Given the description of an element on the screen output the (x, y) to click on. 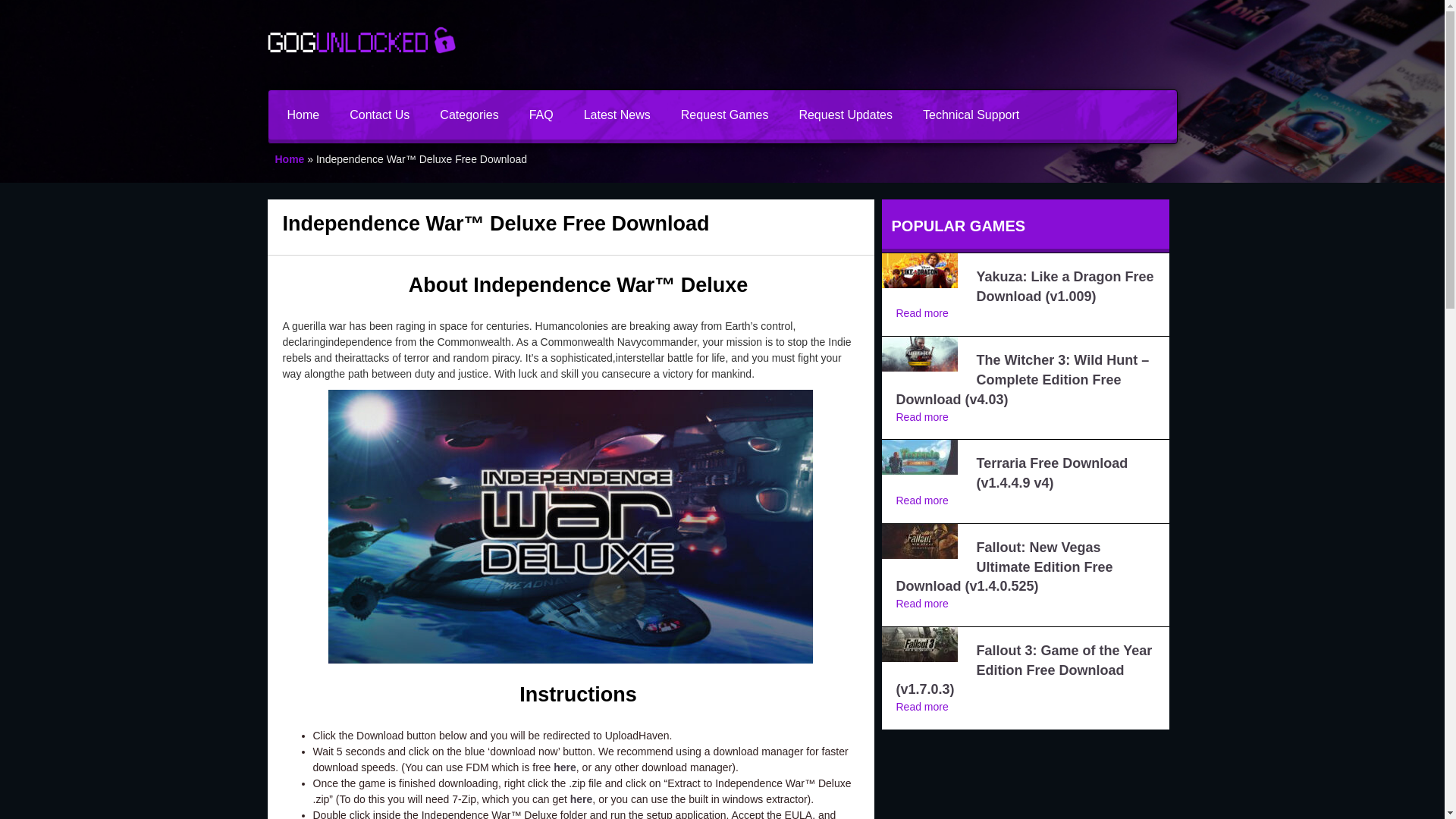
Read more (922, 417)
Technical Support (970, 114)
Request Games (724, 114)
Read more (922, 603)
here (581, 799)
Categories (469, 114)
here (564, 767)
Contact Us (379, 114)
Request Updates (845, 114)
Read more (922, 313)
Home (302, 114)
FAQ (541, 114)
Read more (922, 500)
Read more (922, 706)
Latest News (617, 114)
